Given the description of an element on the screen output the (x, y) to click on. 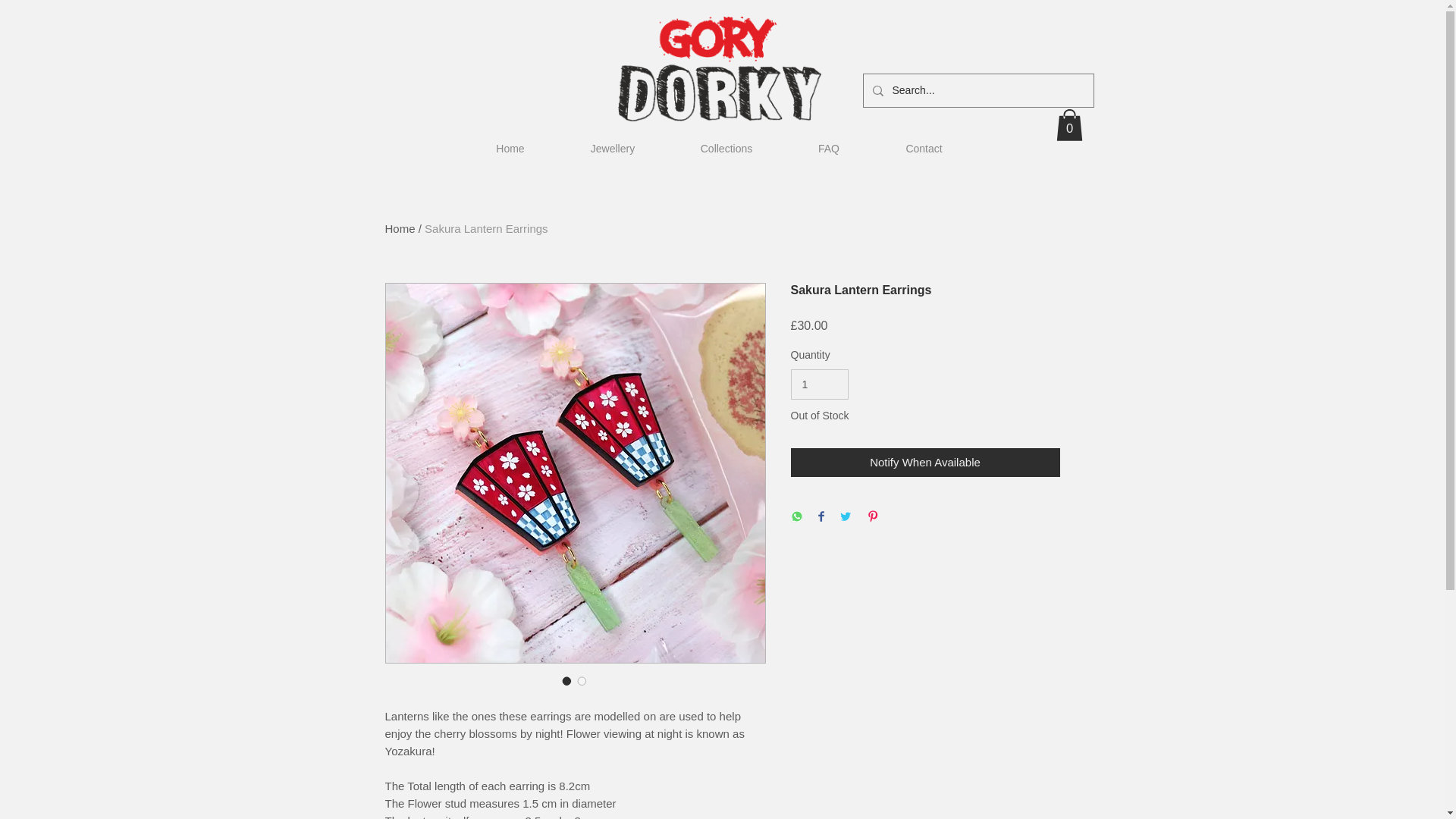
FAQ (829, 148)
Sakura Lantern Earrings (486, 228)
Home (399, 228)
Home (510, 148)
Collections (725, 148)
Contact (923, 148)
Jewellery (612, 148)
Notify When Available (924, 462)
1 (818, 384)
